Given the description of an element on the screen output the (x, y) to click on. 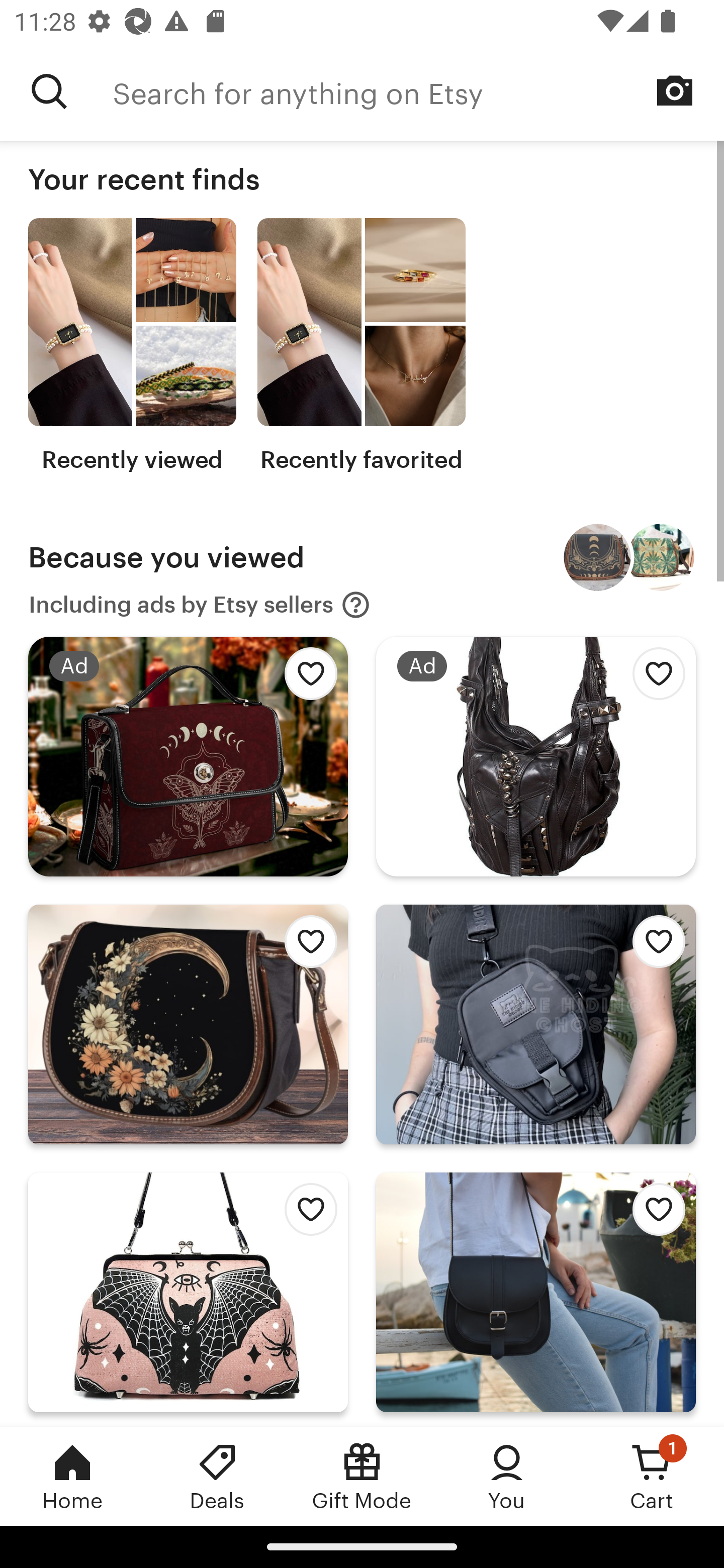
Search for anything on Etsy (49, 91)
Search by image (674, 90)
Search for anything on Etsy (418, 91)
Recently viewed (132, 345)
Recently favorited (361, 345)
Including ads by Etsy sellers (199, 604)
Deals (216, 1475)
Gift Mode (361, 1475)
You (506, 1475)
Cart, 1 new notification Cart (651, 1475)
